Given the description of an element on the screen output the (x, y) to click on. 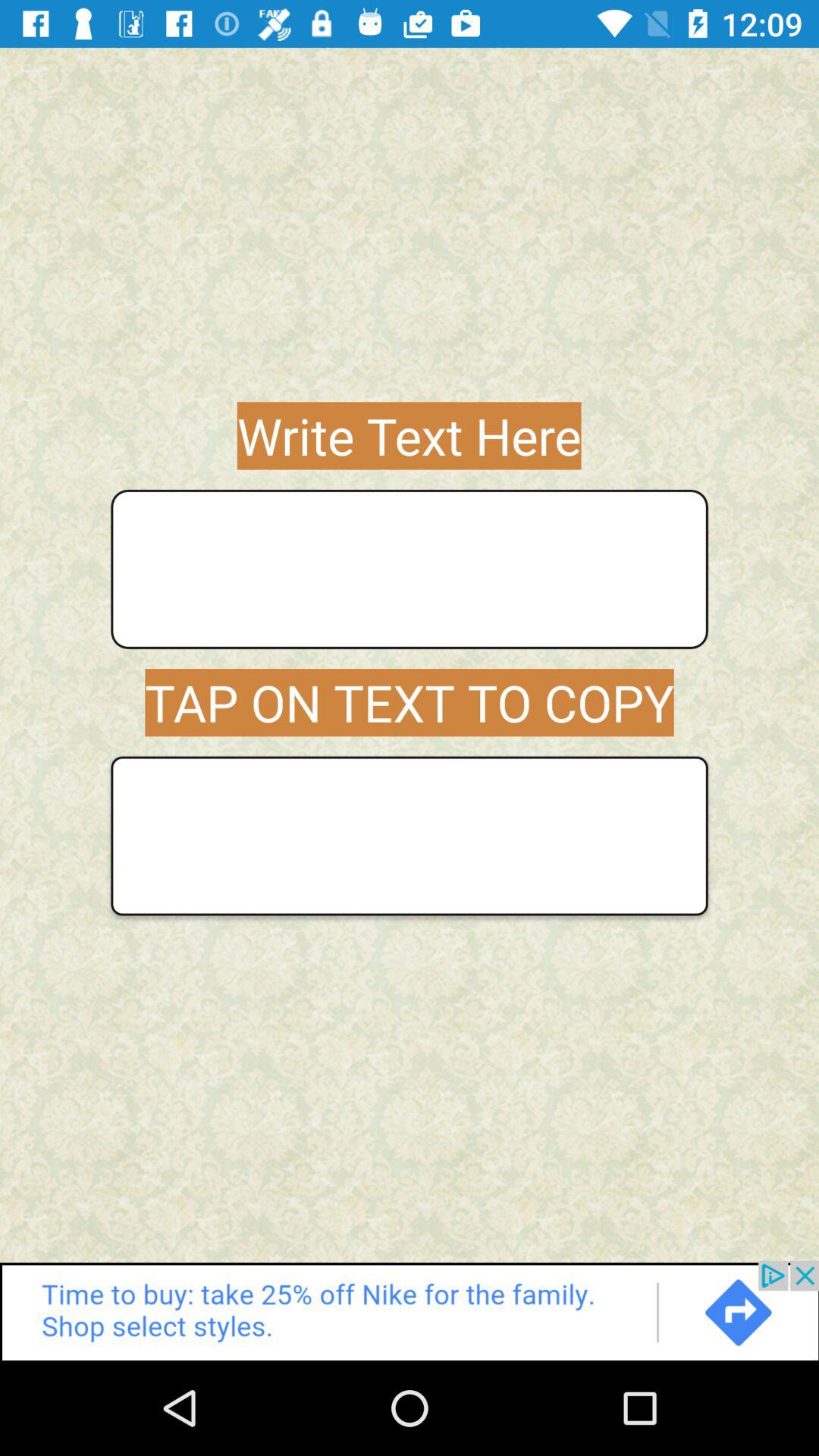
write text (409, 568)
